Given the description of an element on the screen output the (x, y) to click on. 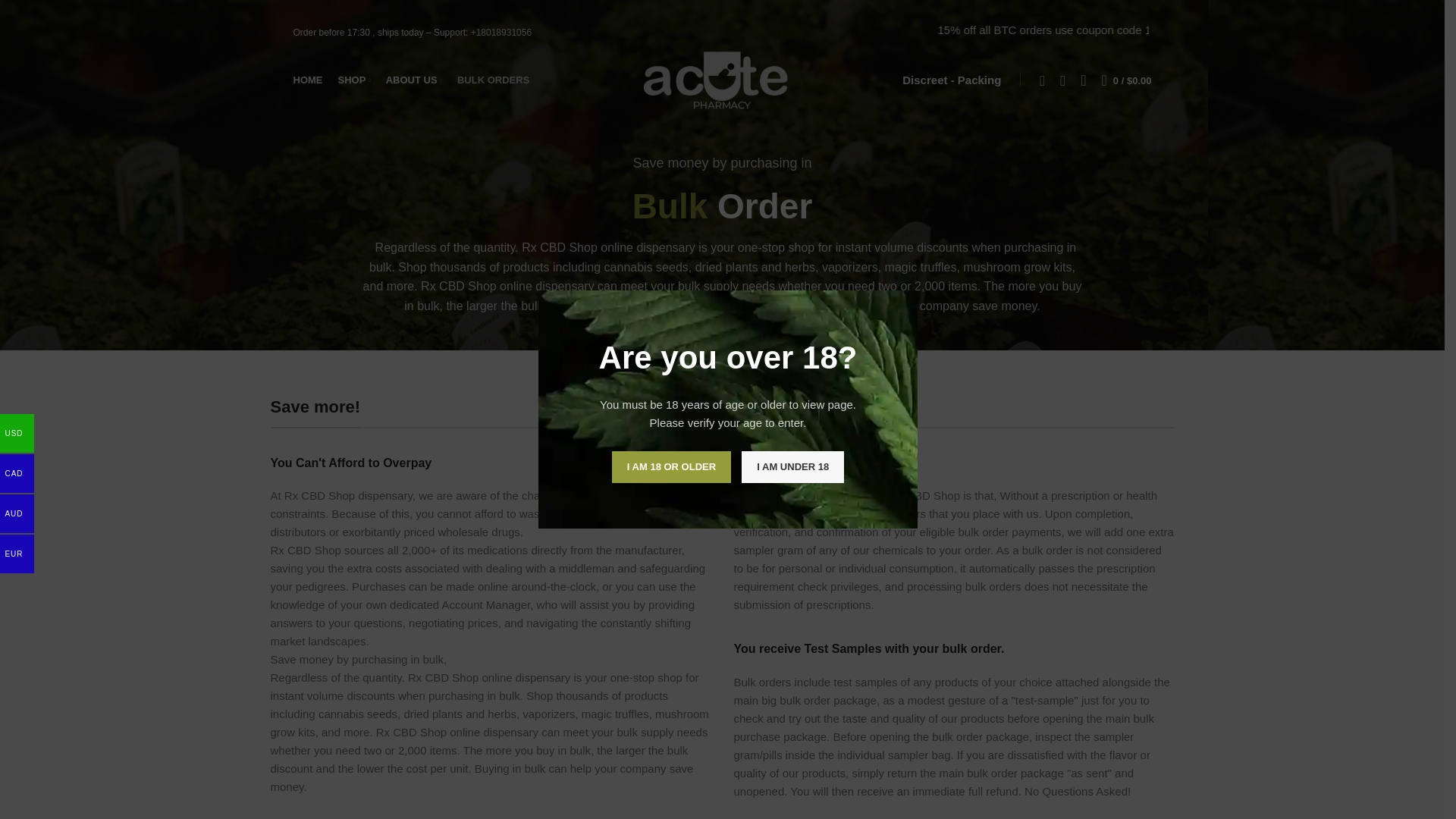
HOME (307, 80)
Discreet - Packing (951, 79)
SHOP (354, 80)
I AM 18 OR OLDER (670, 467)
Shopping cart (1126, 80)
I AM UNDER 18 (792, 467)
BULK ORDERS (493, 80)
ABOUT US (413, 80)
